Given the description of an element on the screen output the (x, y) to click on. 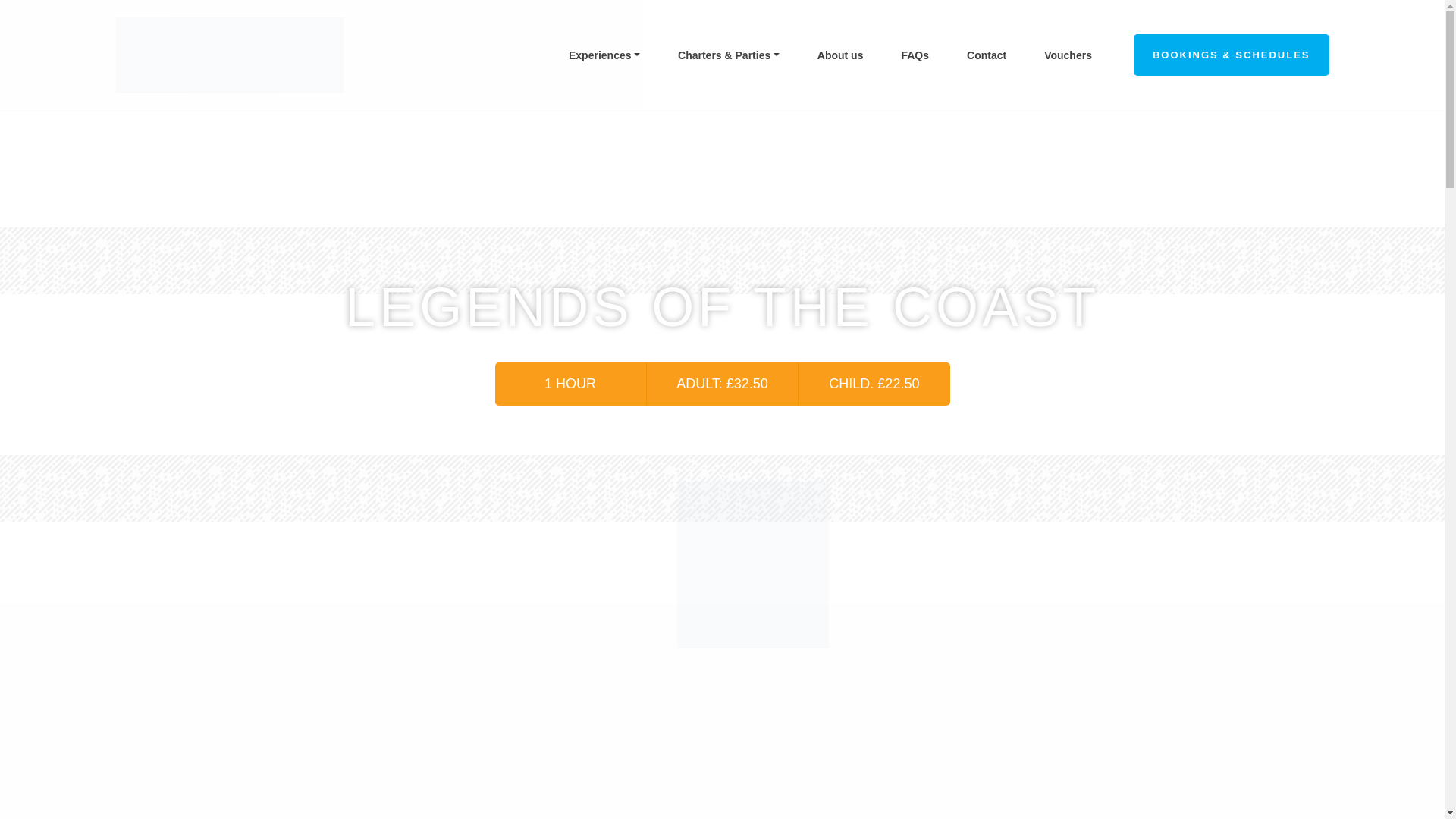
Contact (986, 55)
Vouchers (1067, 55)
FAQs (914, 55)
Experiences (604, 55)
About us (839, 55)
